Given the description of an element on the screen output the (x, y) to click on. 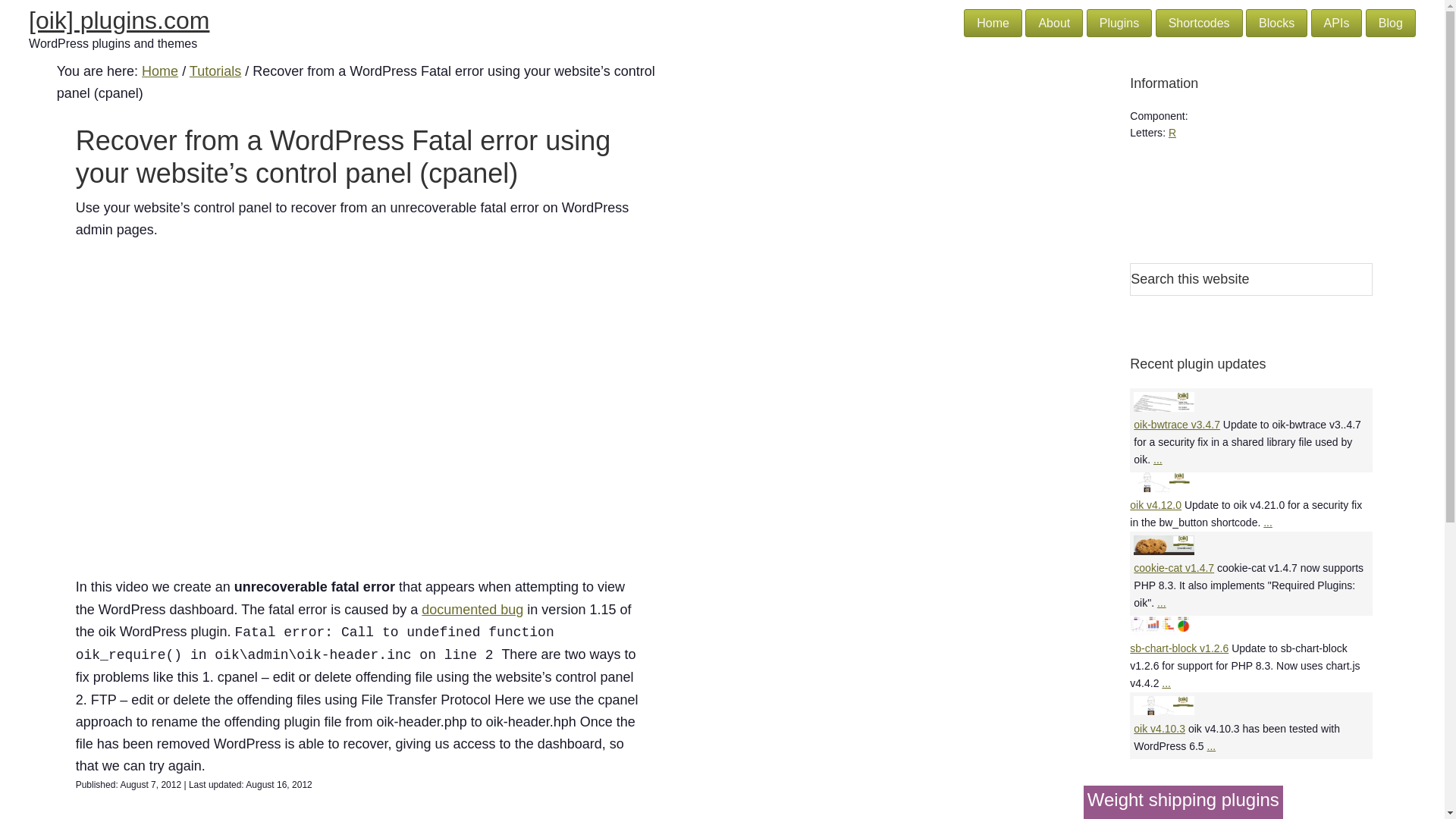
cookie-cat v1.4.7 (1174, 567)
documented bug (472, 609)
oik-bwtrace v3.4.7 (1177, 424)
Shortcodes (1199, 22)
Blog (1390, 22)
Plugins (1118, 22)
Blocks (1276, 22)
APIs (1336, 22)
oik v4.12.0 (1154, 504)
Home (992, 22)
Tutorials (215, 70)
Home (159, 70)
